Given the description of an element on the screen output the (x, y) to click on. 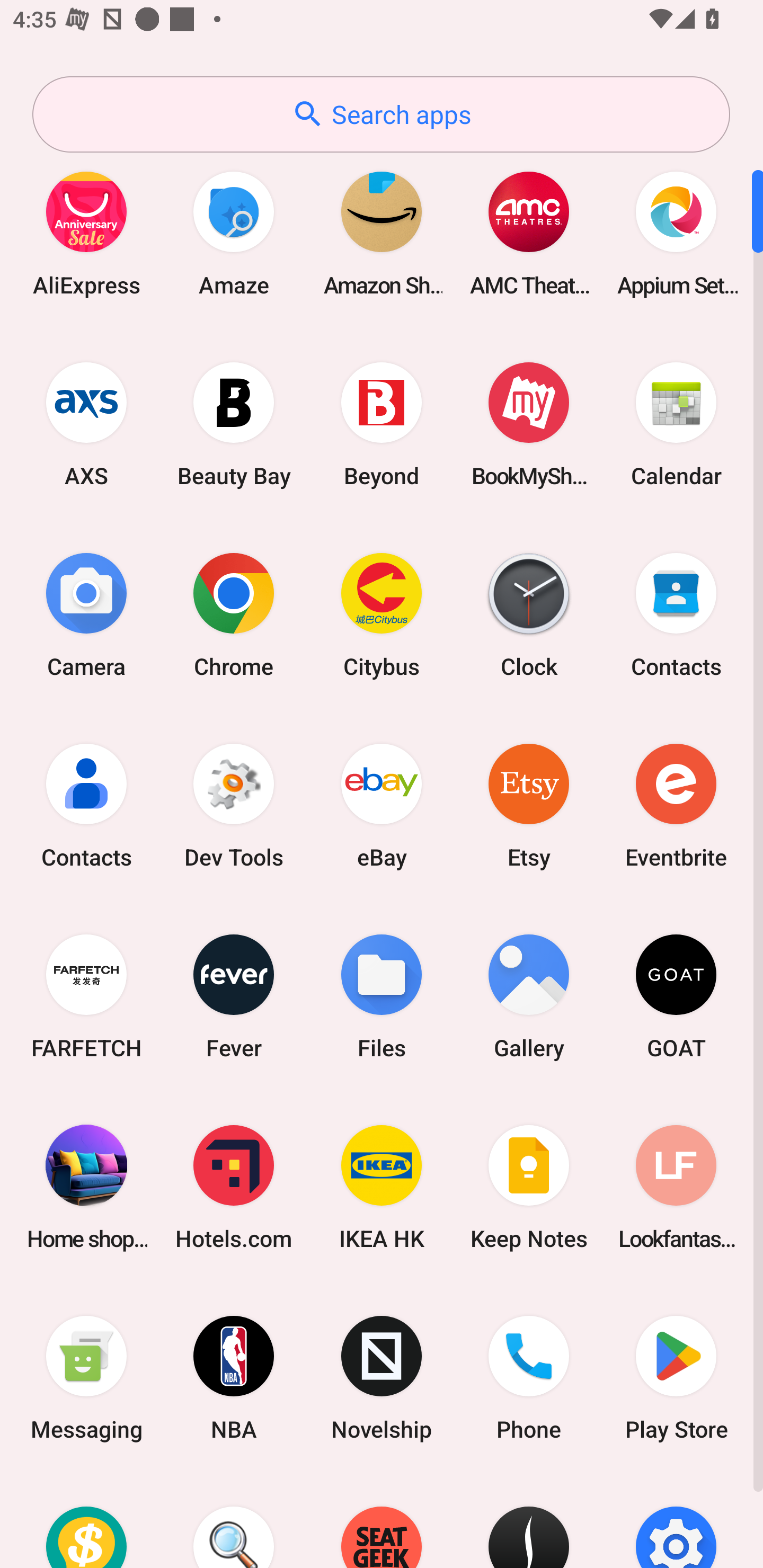
  Search apps (381, 114)
AliExpress (86, 233)
Amaze (233, 233)
Amazon Shopping (381, 233)
AMC Theatres (528, 233)
Appium Settings (676, 233)
AXS (86, 424)
Beauty Bay (233, 424)
Beyond (381, 424)
BookMyShow (528, 424)
Calendar (676, 424)
Camera (86, 614)
Chrome (233, 614)
Citybus (381, 614)
Clock (528, 614)
Contacts (676, 614)
Contacts (86, 805)
Dev Tools (233, 805)
eBay (381, 805)
Etsy (528, 805)
Eventbrite (676, 805)
FARFETCH (86, 996)
Fever (233, 996)
Files (381, 996)
Gallery (528, 996)
GOAT (676, 996)
Home shopping (86, 1186)
Hotels.com (233, 1186)
IKEA HK (381, 1186)
Keep Notes (528, 1186)
Lookfantastic (676, 1186)
Messaging (86, 1377)
NBA (233, 1377)
Novelship (381, 1377)
Phone (528, 1377)
Play Store (676, 1377)
Price (86, 1520)
Search (233, 1520)
SeatGeek (381, 1520)
Sephora (528, 1520)
Settings (676, 1520)
